Given the description of an element on the screen output the (x, y) to click on. 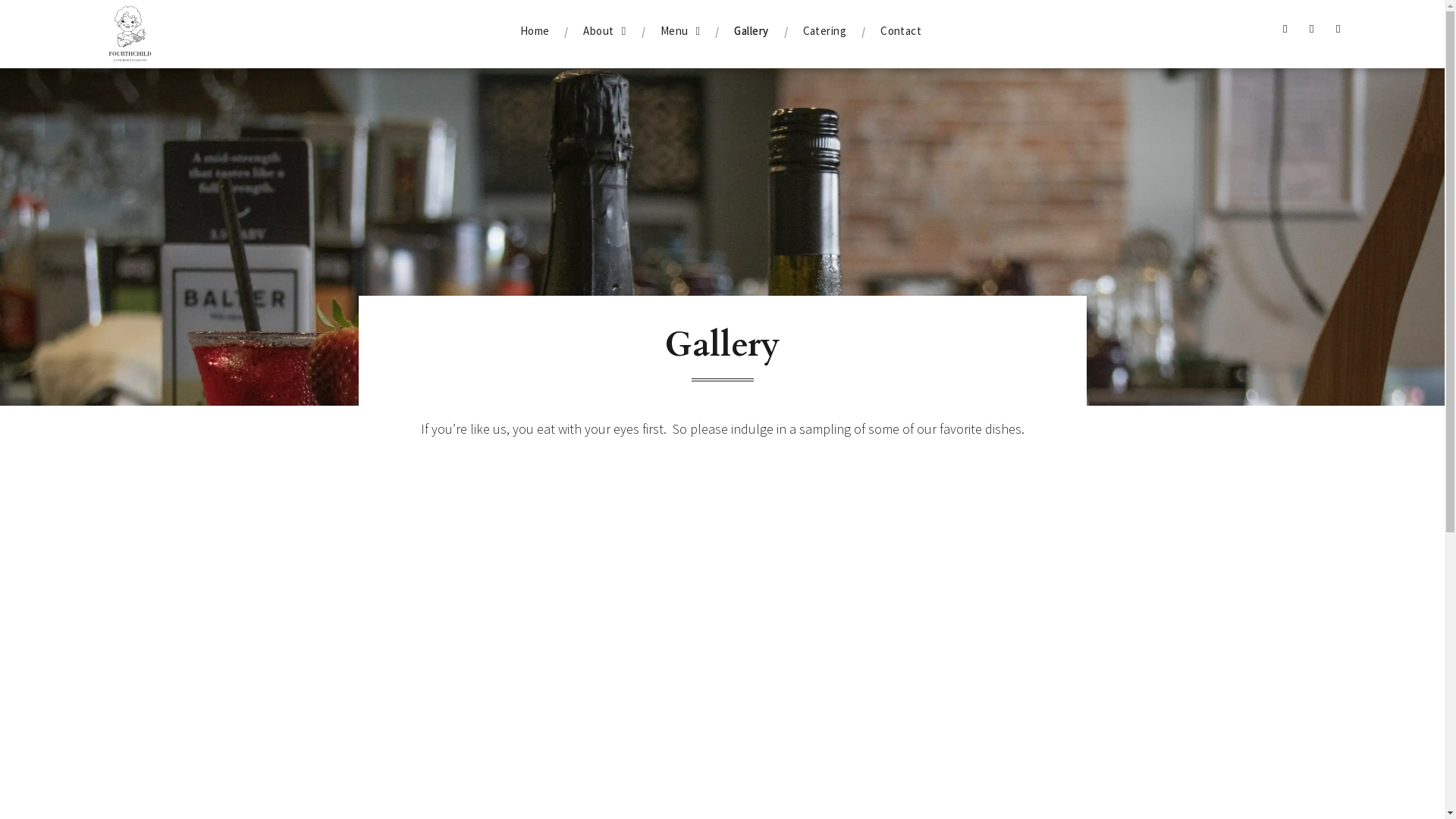
Catering Element type: text (824, 30)
Contact Element type: text (900, 30)
Menu Element type: text (680, 30)
About Element type: text (603, 30)
Gallery Element type: text (750, 30)
Home Element type: text (534, 30)
